Given the description of an element on the screen output the (x, y) to click on. 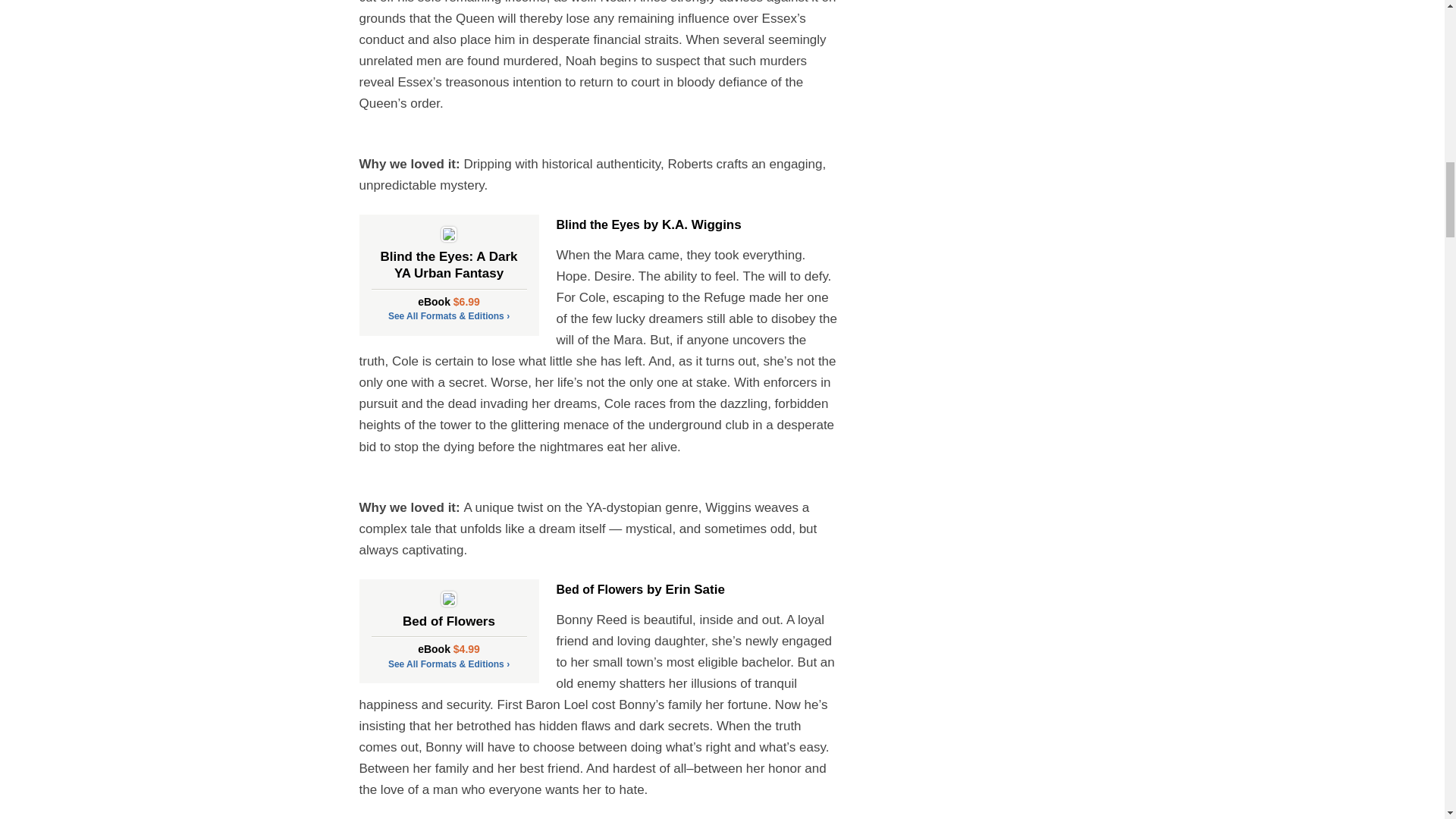
Blind the Eyes (598, 224)
Blind the Eyes: A Dark YA Urban Fantasy (449, 268)
